Given the description of an element on the screen output the (x, y) to click on. 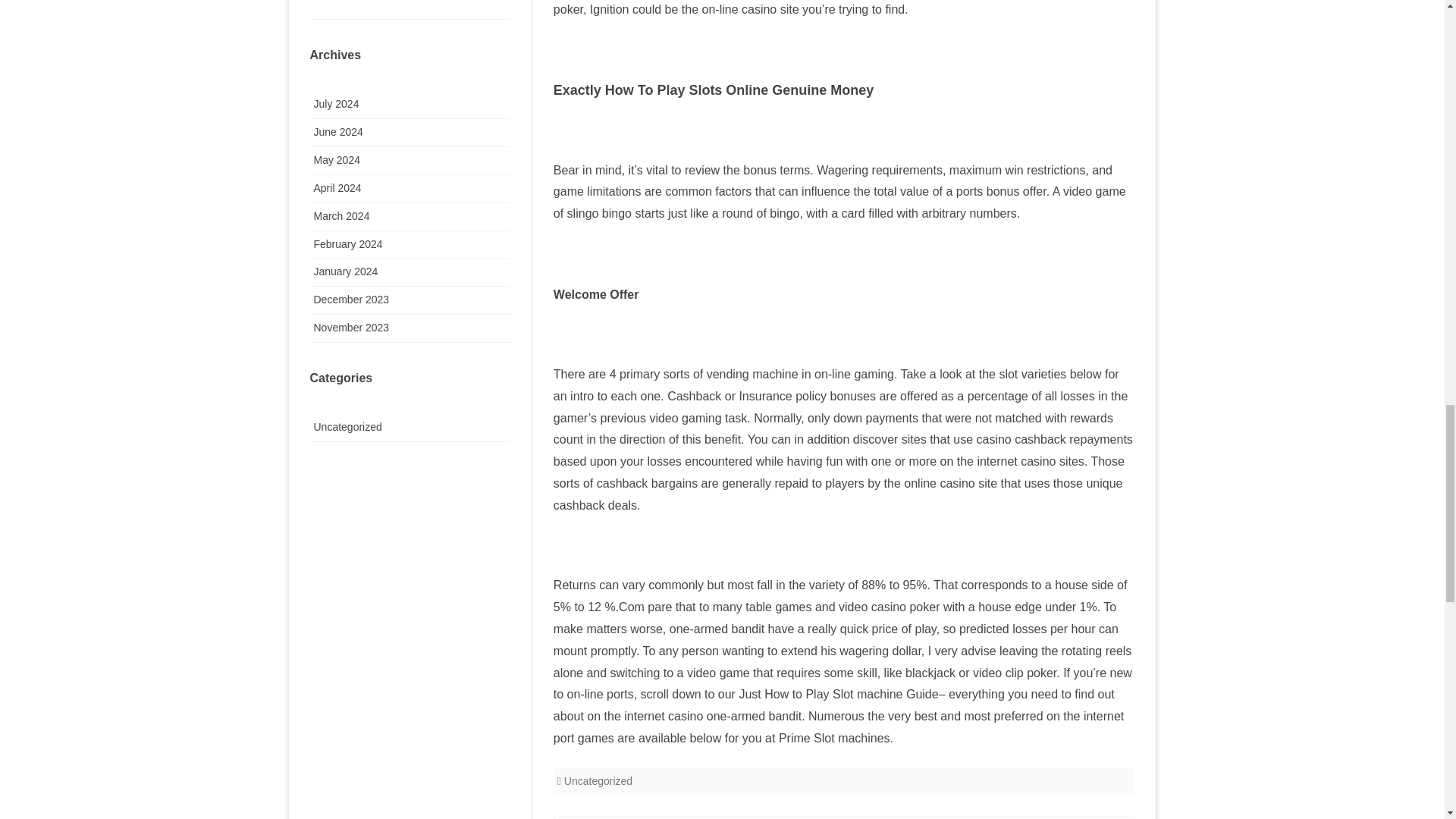
Uncategorized (597, 780)
